Given the description of an element on the screen output the (x, y) to click on. 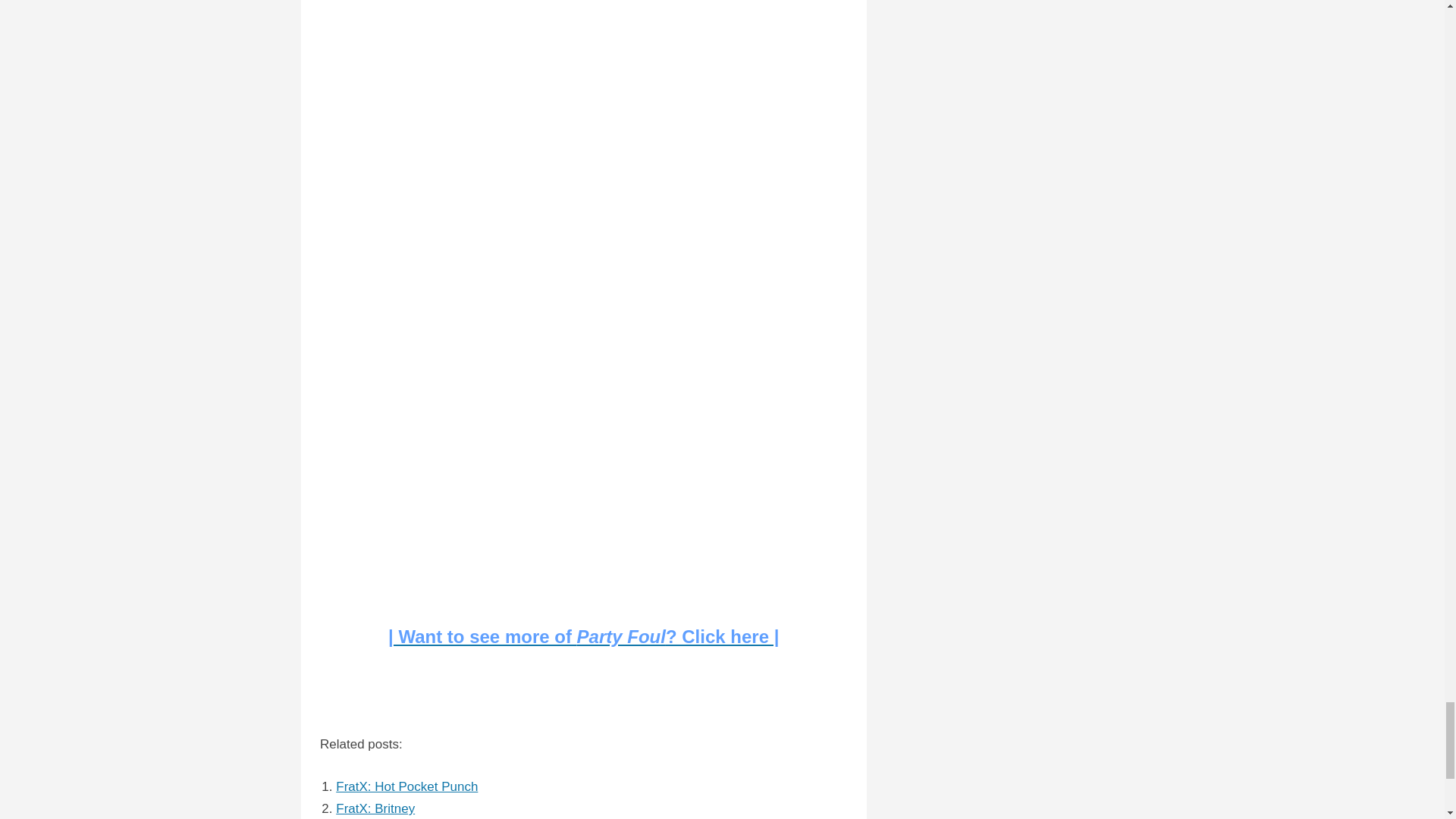
FratX: Hot Pocket Punch (406, 786)
FratX: Britney (375, 808)
